Given the description of an element on the screen output the (x, y) to click on. 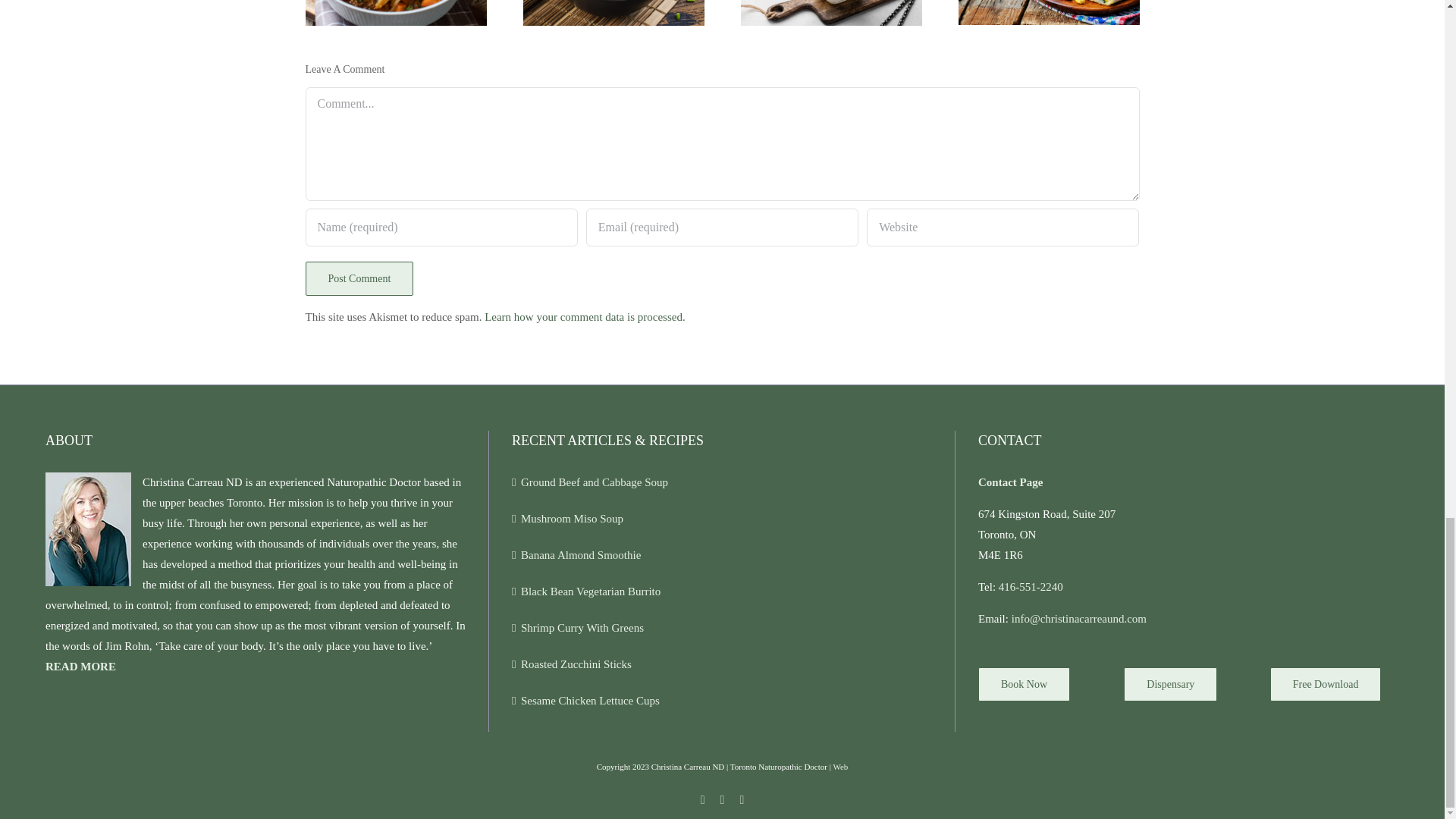
Post Comment (358, 278)
Visit my online dispensary (1170, 684)
Free Download (1325, 684)
Book an appointment (1024, 684)
